Given the description of an element on the screen output the (x, y) to click on. 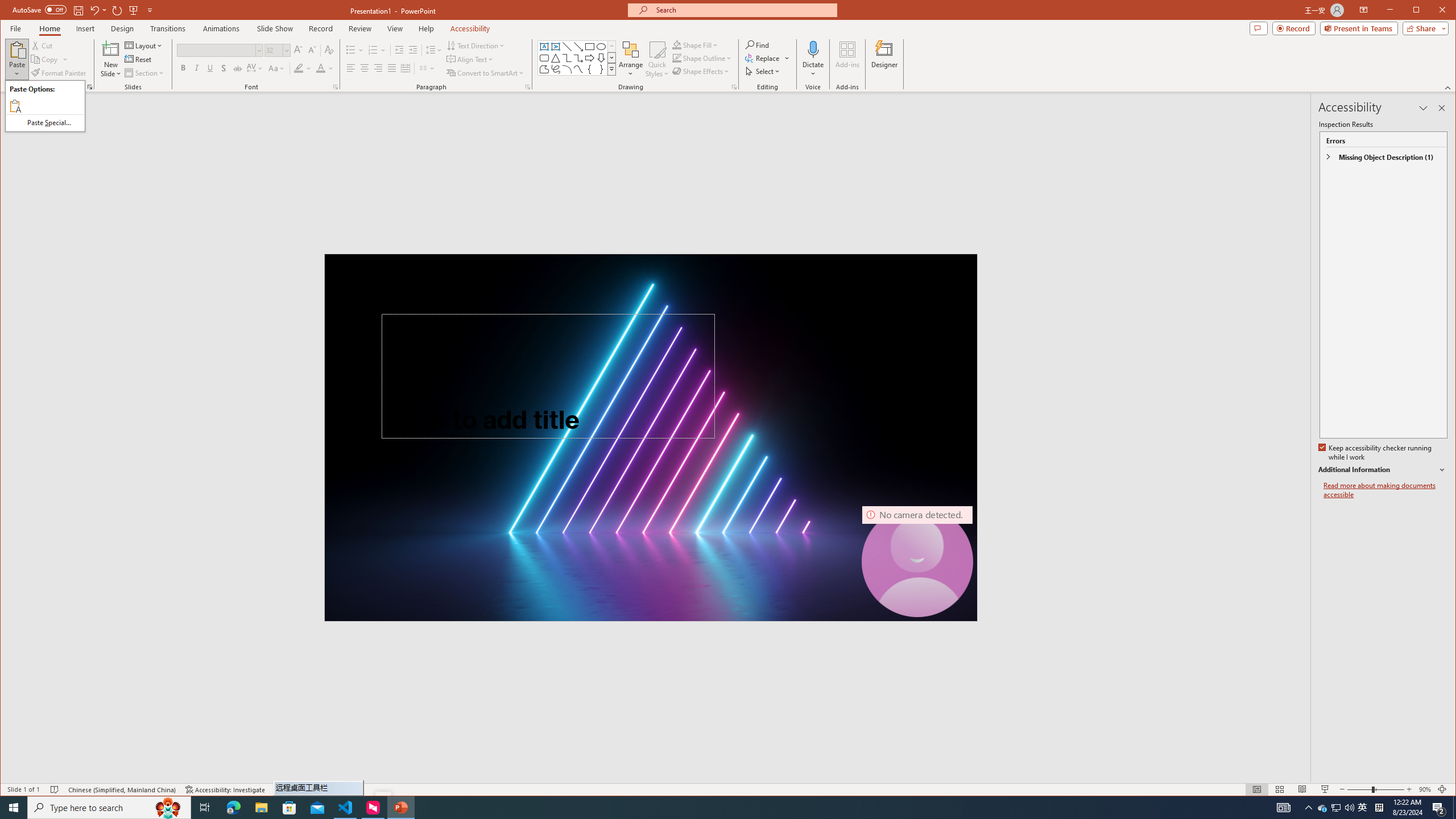
Zoom 90% (1424, 789)
